Given the description of an element on the screen output the (x, y) to click on. 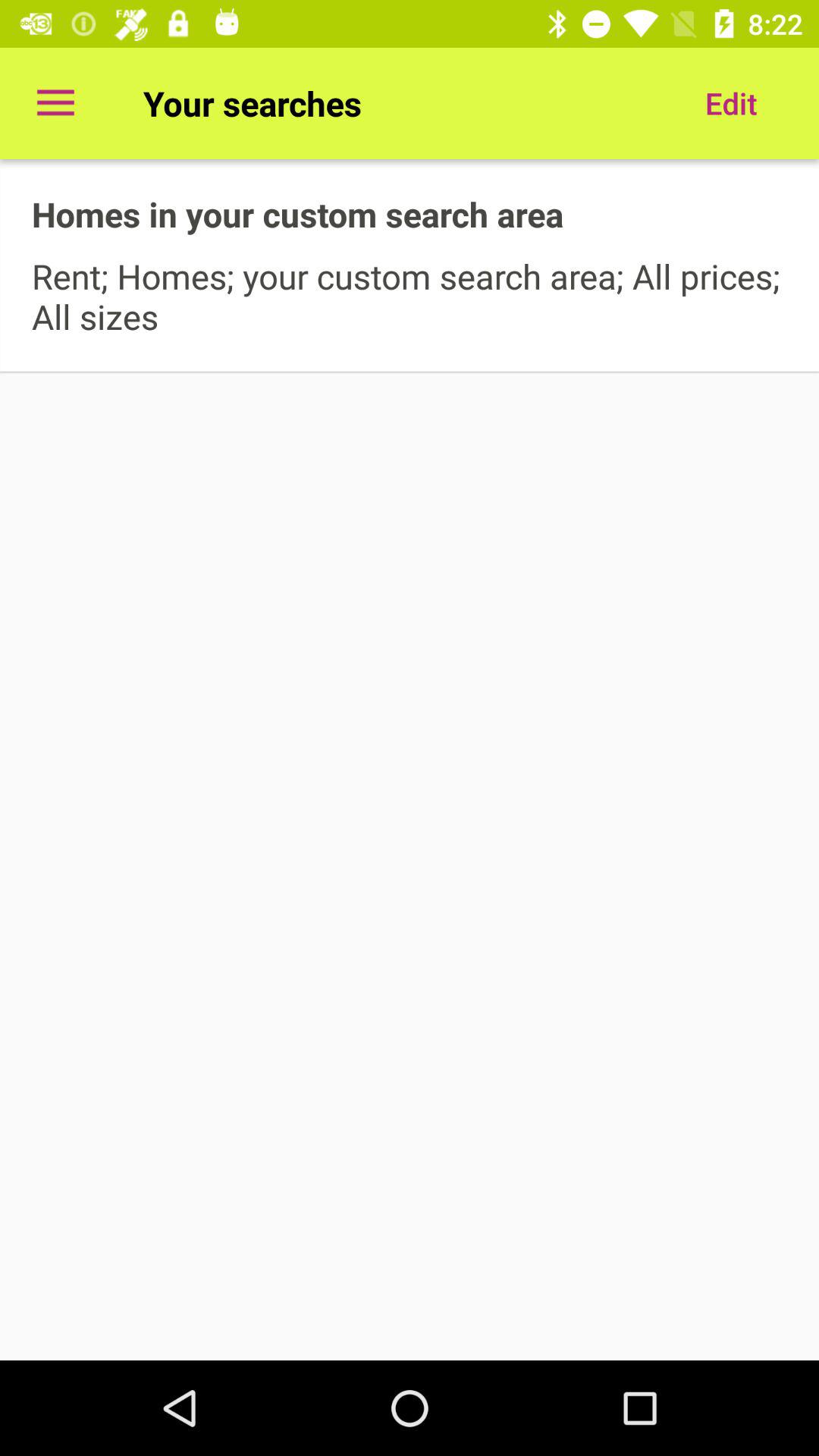
select the item above the rent homes your (731, 103)
